Given the description of an element on the screen output the (x, y) to click on. 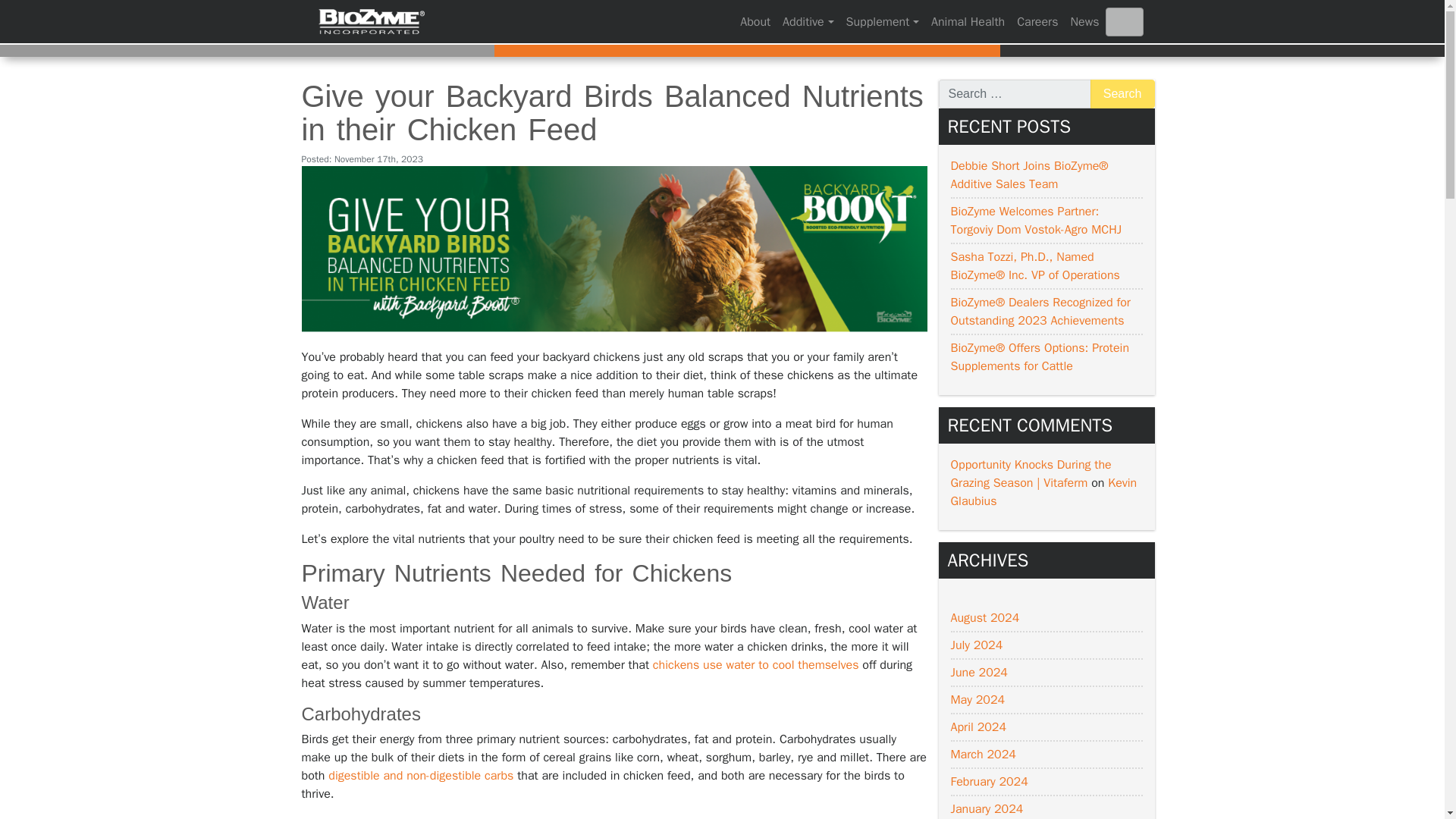
Animal Health (967, 21)
Additive (808, 21)
Careers (1037, 21)
chickens use water to cool themselves (755, 664)
News (1084, 21)
Animal Health (967, 21)
Supplements (883, 21)
About (754, 21)
digestible and non-digestible carbs (421, 775)
About (754, 21)
